Given the description of an element on the screen output the (x, y) to click on. 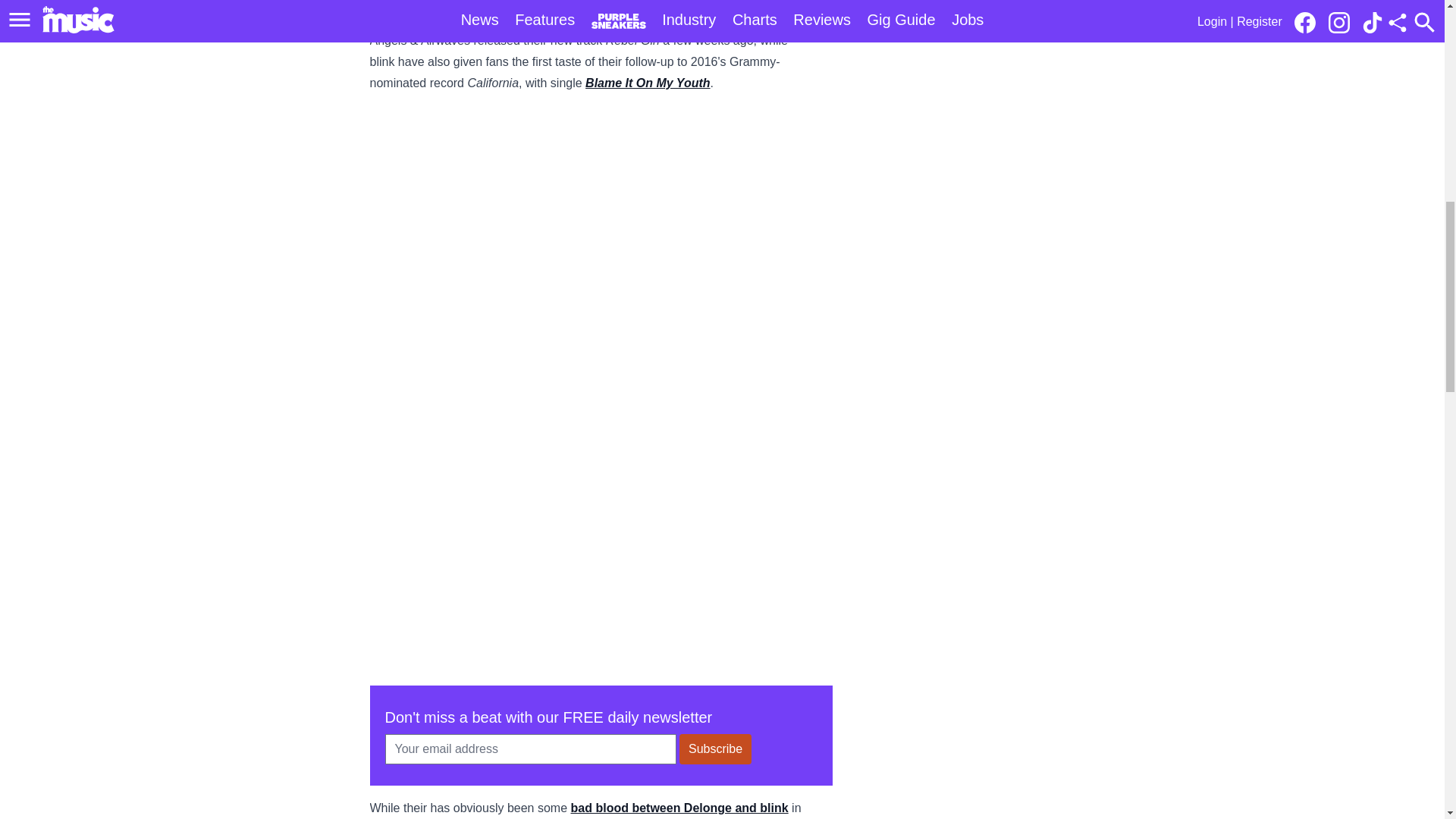
Blame It On My Youth (647, 82)
bad blood between Delonge and blink (679, 807)
Subscribe (715, 748)
